Given the description of an element on the screen output the (x, y) to click on. 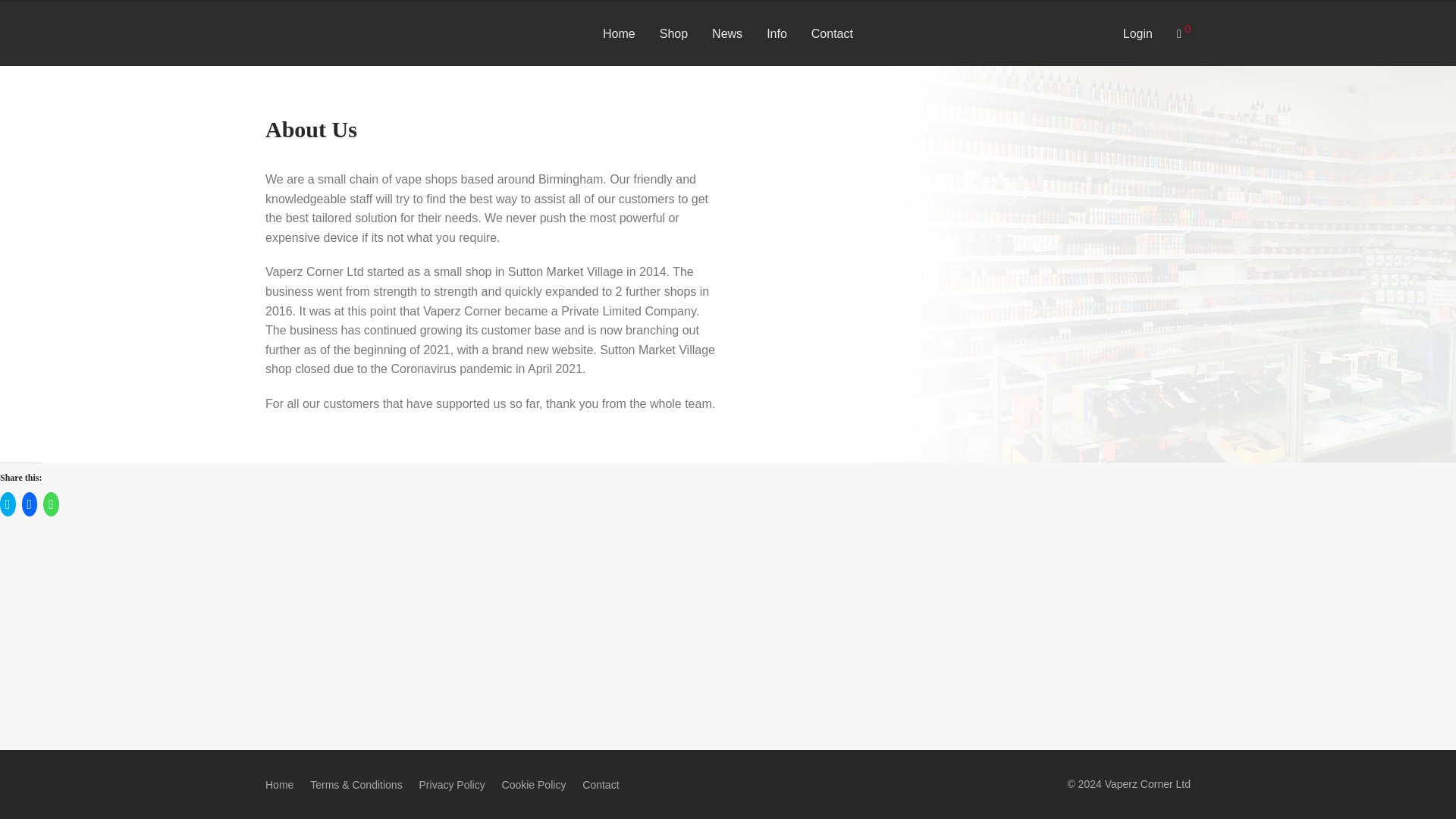
Home (279, 784)
News (727, 33)
Privacy Policy (451, 784)
Contact (600, 784)
Shop (673, 33)
Cookie Policy (534, 784)
0 (1183, 33)
Home (619, 33)
Login (1137, 33)
Info (776, 33)
Contact (831, 33)
